Given the description of an element on the screen output the (x, y) to click on. 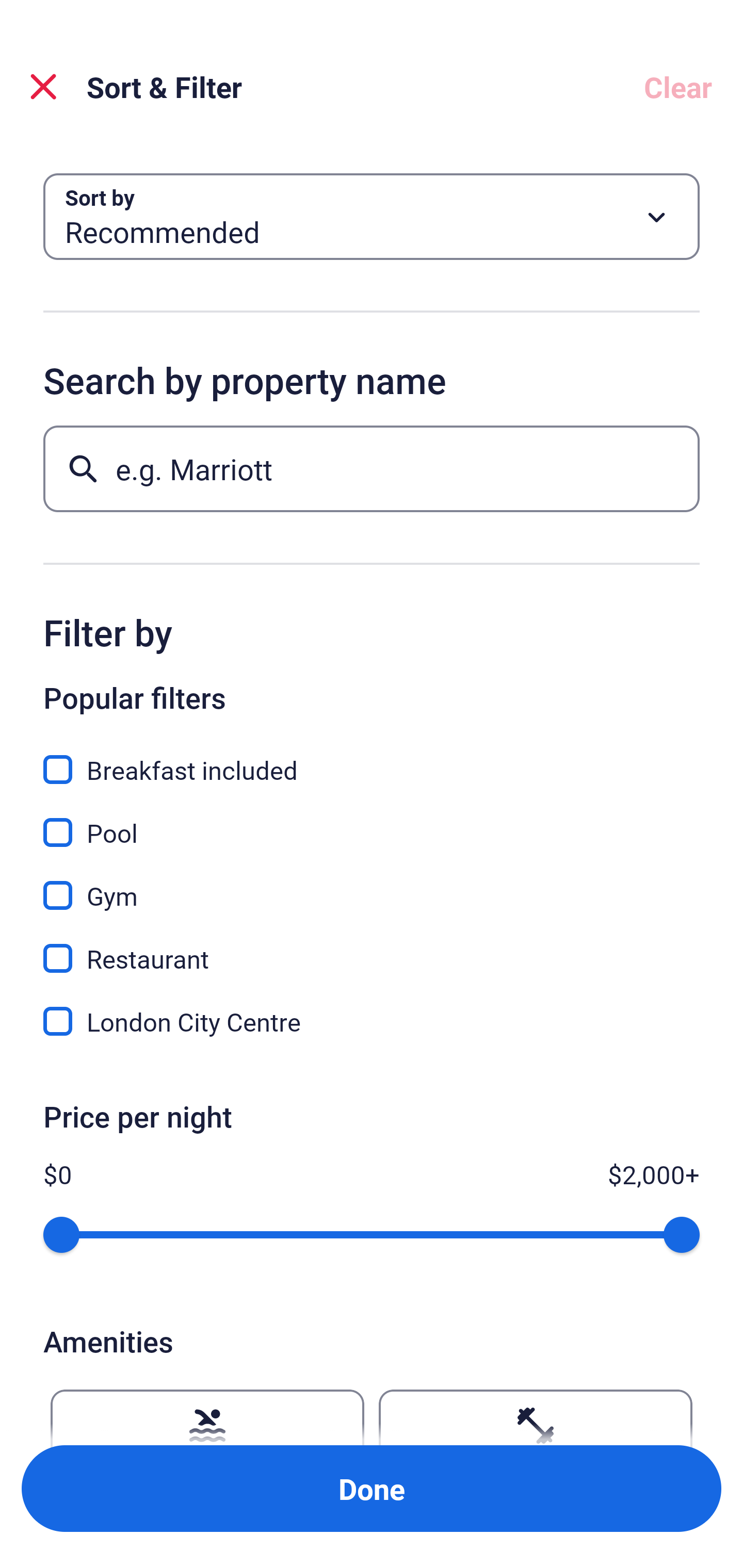
Close Sort and Filter (43, 86)
Clear (677, 86)
Sort by Button Recommended (371, 217)
e.g. Marriott Button (371, 468)
Breakfast included, Breakfast included (371, 757)
Pool, Pool (371, 821)
Gym, Gym (371, 883)
Restaurant, Restaurant (371, 946)
London City Centre, London City Centre (371, 1021)
Apply and close Sort and Filter Done (371, 1488)
